Given the description of an element on the screen output the (x, y) to click on. 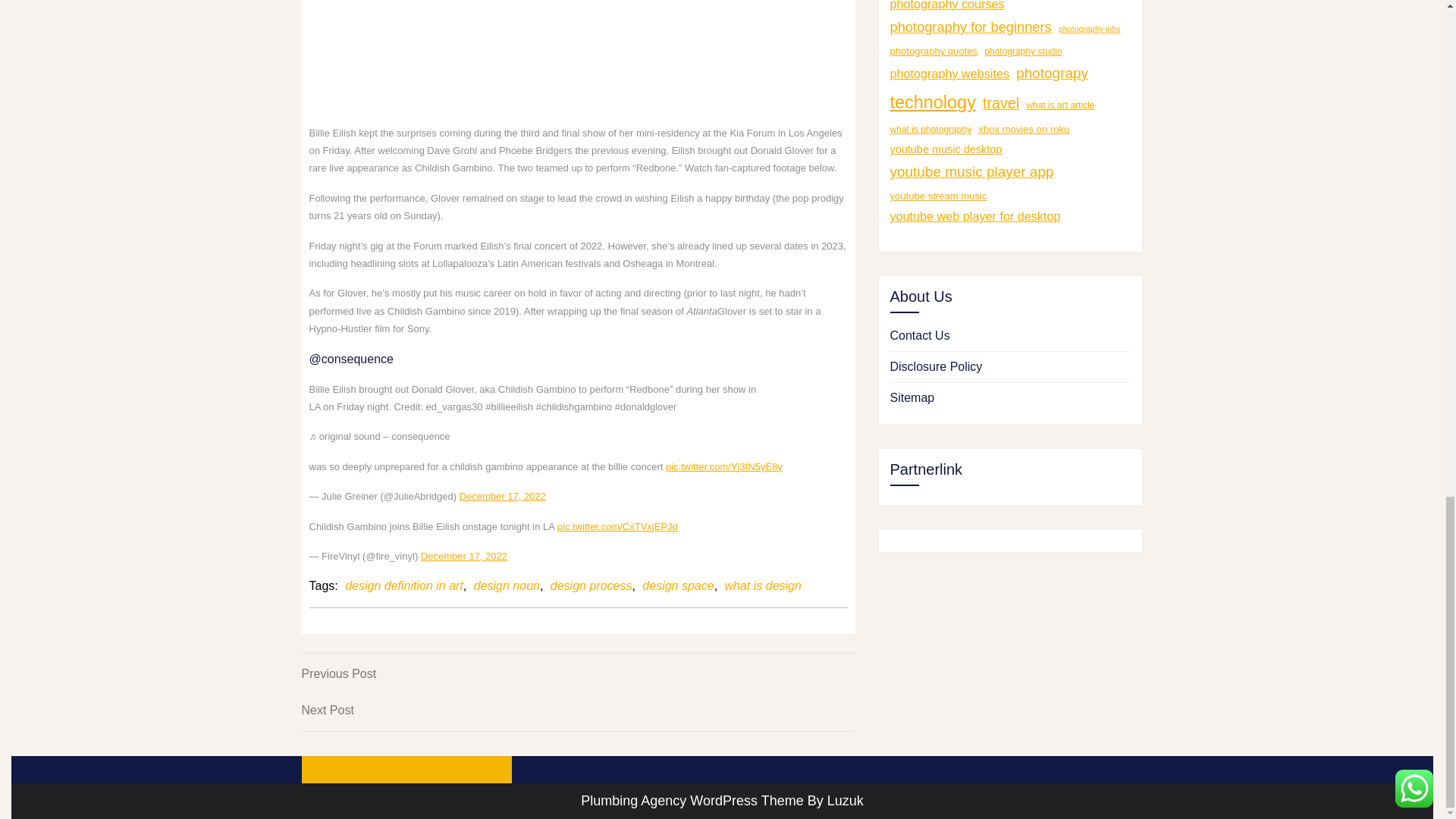
what is design (578, 710)
December 17, 2022 (763, 586)
design process (463, 555)
December 17, 2022 (578, 674)
design definition in art (590, 586)
design noun (503, 496)
design space (404, 586)
